Given the description of an element on the screen output the (x, y) to click on. 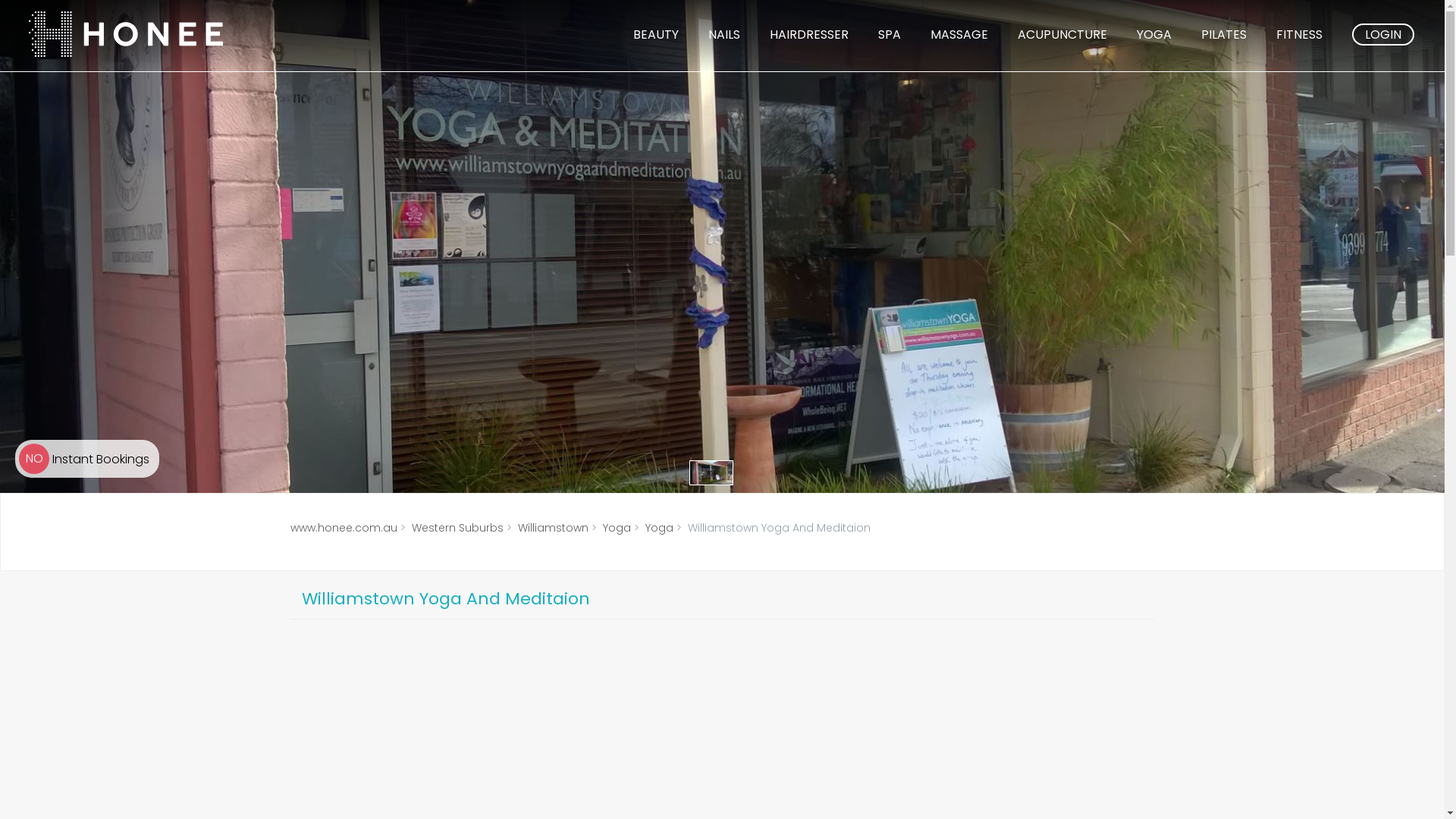
ACUPUNCTURE Element type: text (1062, 34)
www.honee.com.au Element type: text (342, 527)
HAIRDRESSER Element type: text (808, 34)
MASSAGE Element type: text (959, 34)
Yoga Element type: text (658, 527)
Yoga Element type: text (616, 527)
LOGIN Element type: text (1383, 34)
NAILS Element type: text (724, 34)
Yoga | Yoga | Williamstown Yoga And Meditaion Element type: hover (710, 472)
BEAUTY Element type: text (655, 34)
PILATES Element type: text (1223, 34)
FITNESS Element type: text (1299, 34)
SPA Element type: text (889, 34)
YOGA Element type: text (1153, 34)
Williamstown Element type: text (552, 527)
Western Suburbs Element type: text (456, 527)
